Given the description of an element on the screen output the (x, y) to click on. 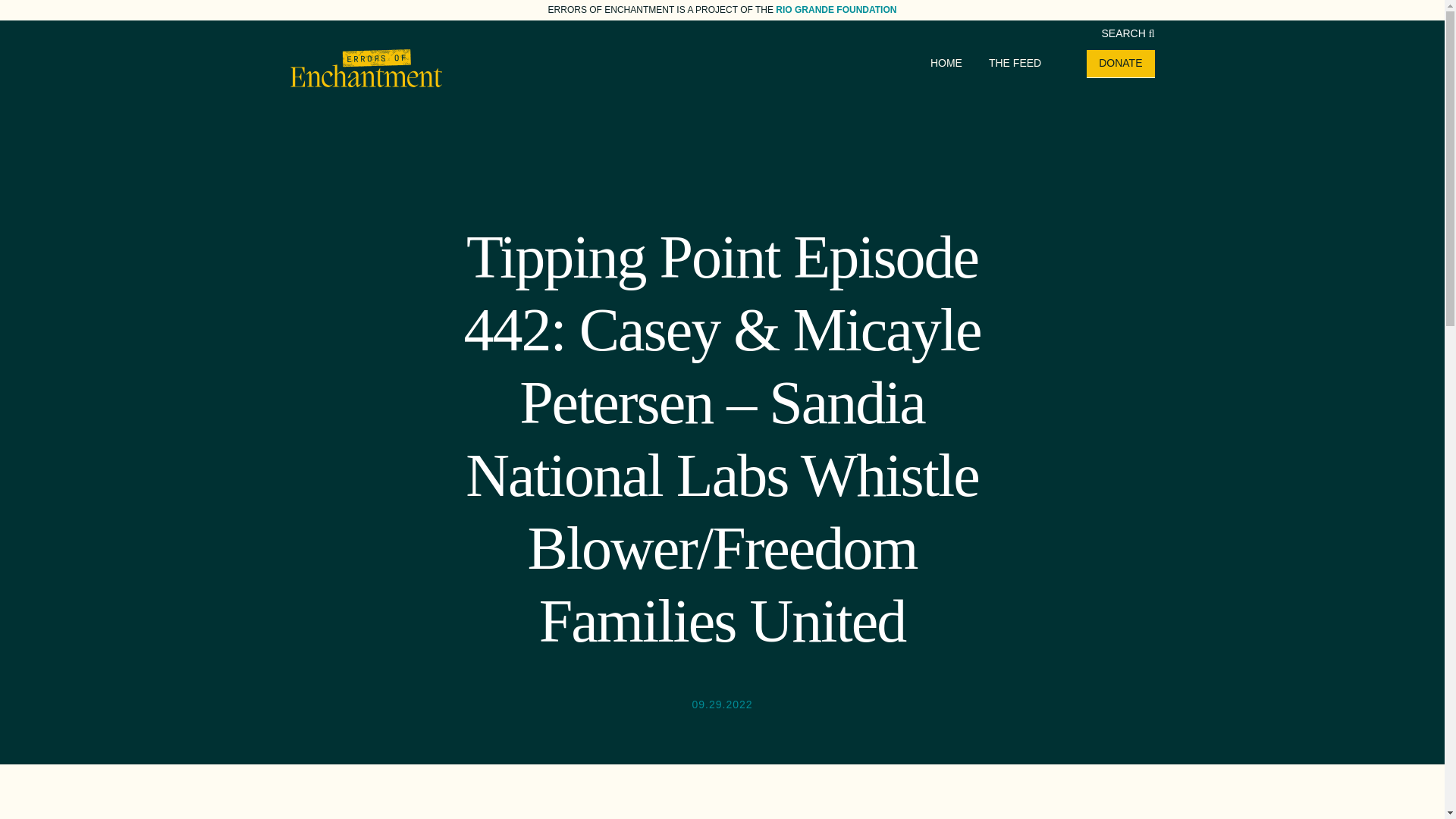
DONATE (1120, 62)
SEARCH (1127, 33)
THE FEED (1014, 62)
HOME (946, 62)
RIO GRANDE FOUNDATION (836, 9)
